Given the description of an element on the screen output the (x, y) to click on. 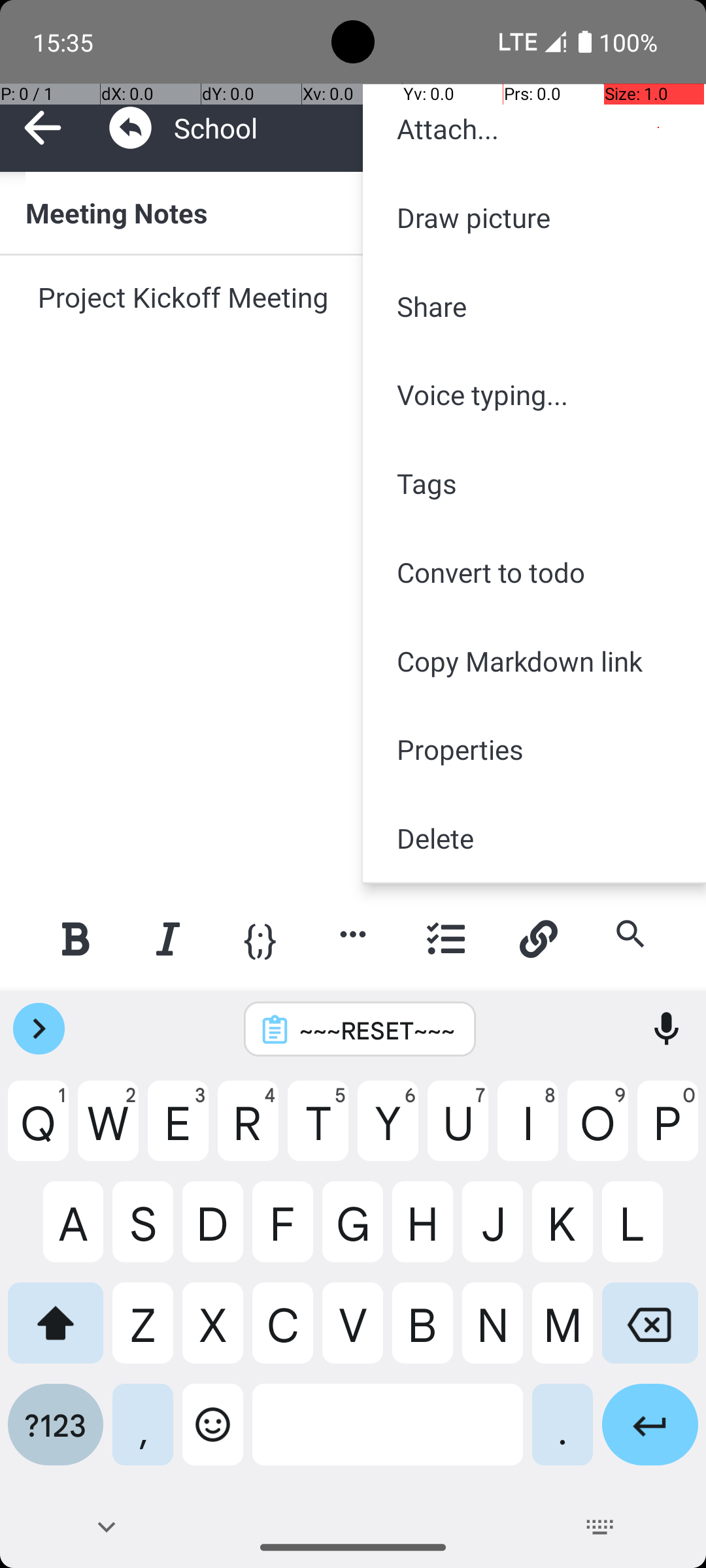
Attach... Element type: android.widget.TextView (534, 128)
Draw picture Element type: android.widget.TextView (534, 216)
Voice typing... Element type: android.widget.TextView (534, 394)
Tags Element type: android.widget.TextView (534, 483)
Convert to todo Element type: android.widget.TextView (534, 571)
Copy Markdown link Element type: android.widget.TextView (534, 660)
Properties Element type: android.widget.TextView (534, 749)
Project Kickoff Meeting
 Element type: android.widget.EditText (354, 317)
